Given the description of an element on the screen output the (x, y) to click on. 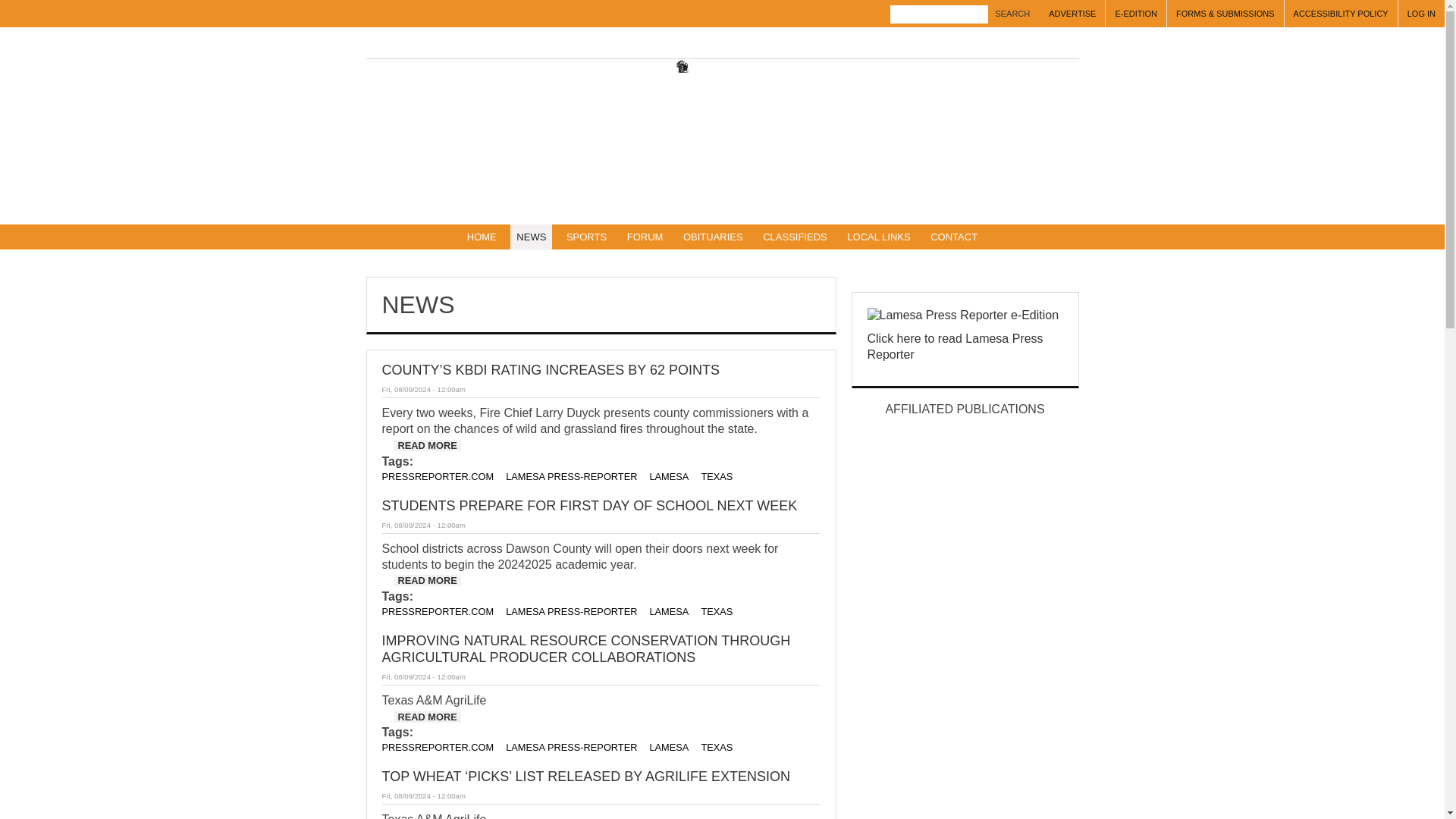
LAMESA (668, 476)
LAMESA (668, 747)
LAMESA PRESS-REPORTER (571, 747)
CONTACT (954, 236)
Enter the terms you wish to search for. (938, 13)
HOME (481, 236)
E-EDITION (1136, 13)
TEXAS (716, 476)
Search (1012, 13)
News (531, 236)
